Given the description of an element on the screen output the (x, y) to click on. 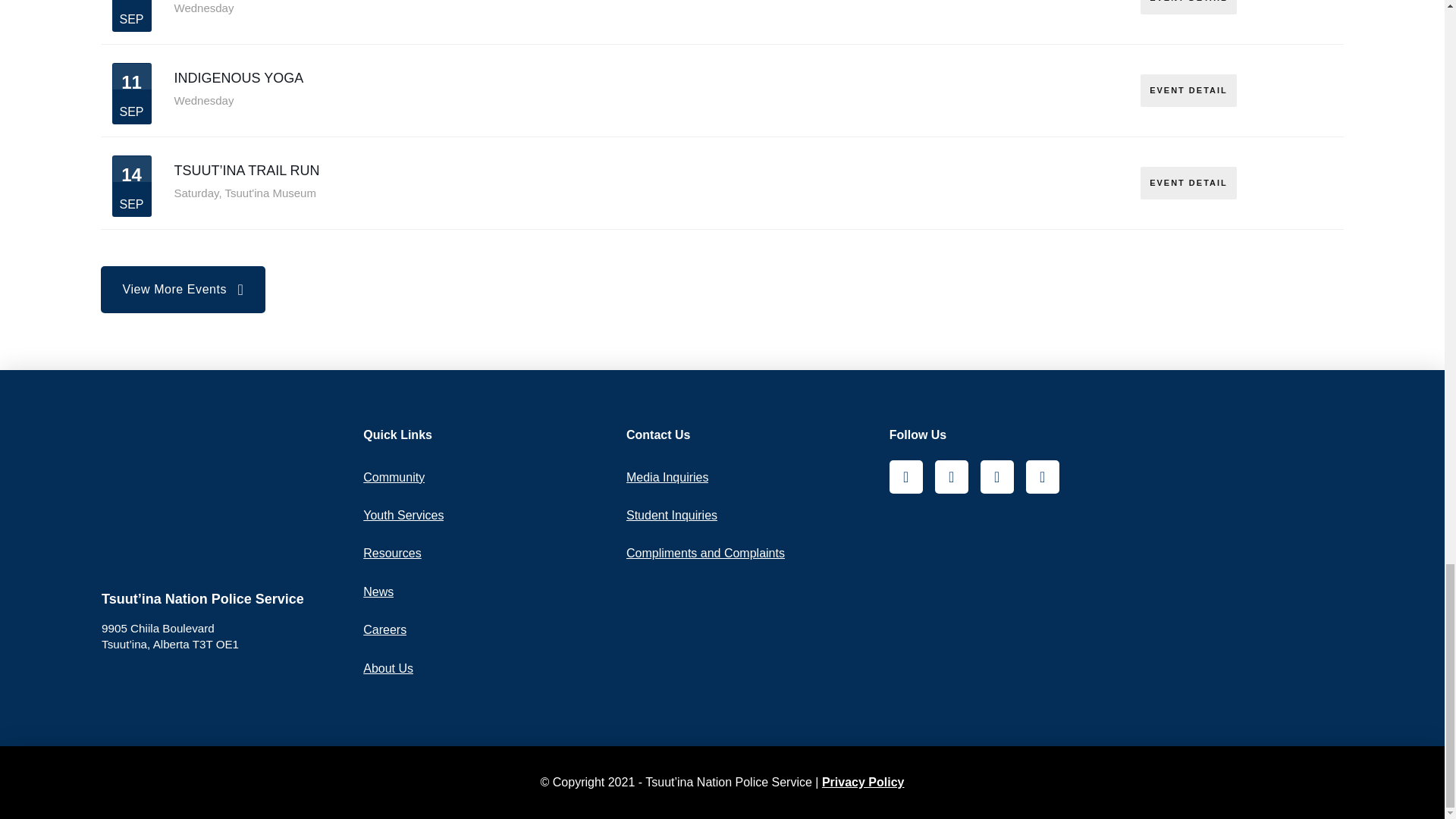
EVENT DETAIL (1188, 7)
EVENT DETAIL (1188, 90)
INDIGENOUS YOGA (239, 77)
